Given the description of an element on the screen output the (x, y) to click on. 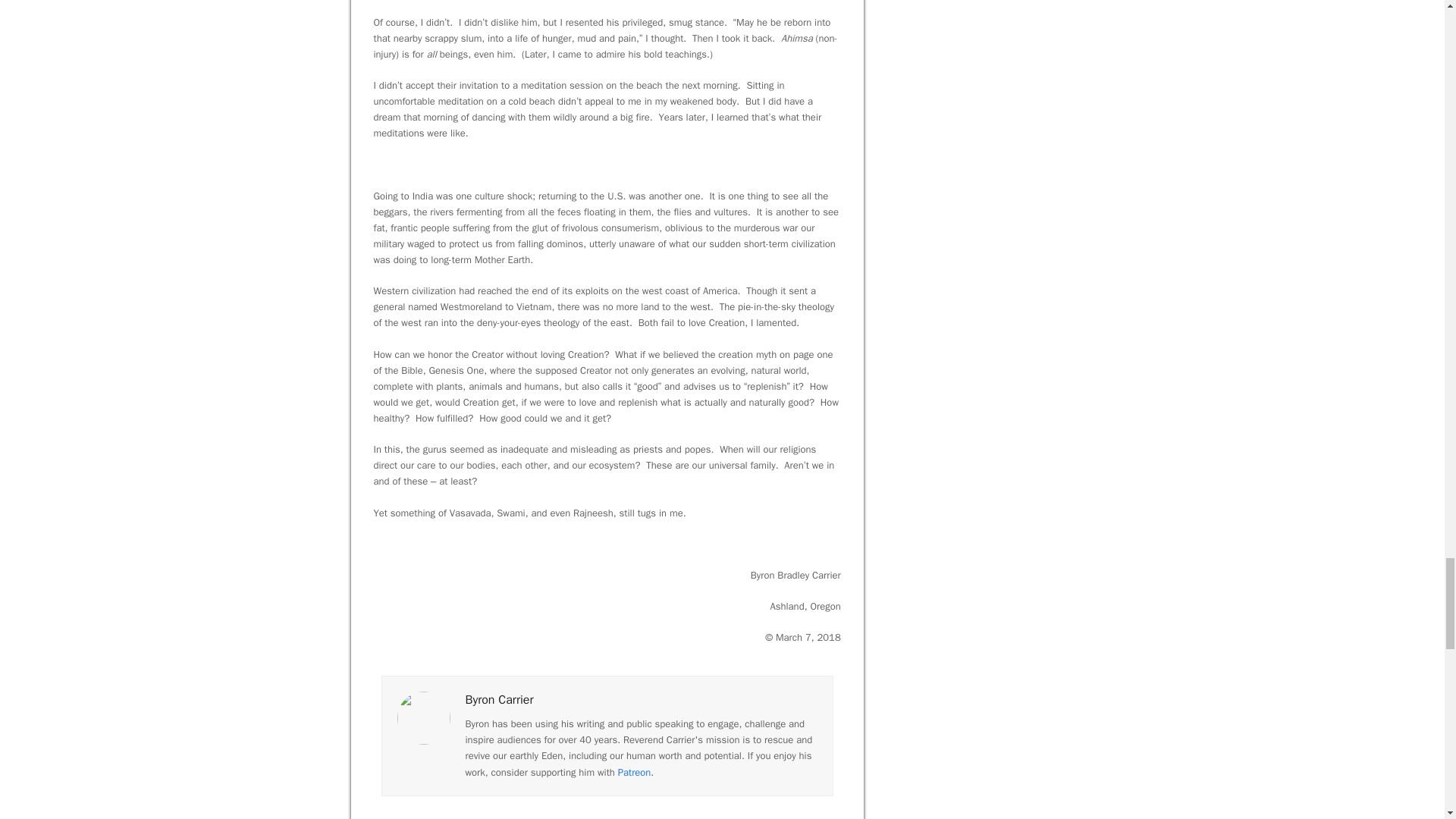
Patreon (633, 771)
Byron Carrier (499, 699)
Visit Author Page (499, 699)
Visit Author Page (423, 716)
